Given the description of an element on the screen output the (x, y) to click on. 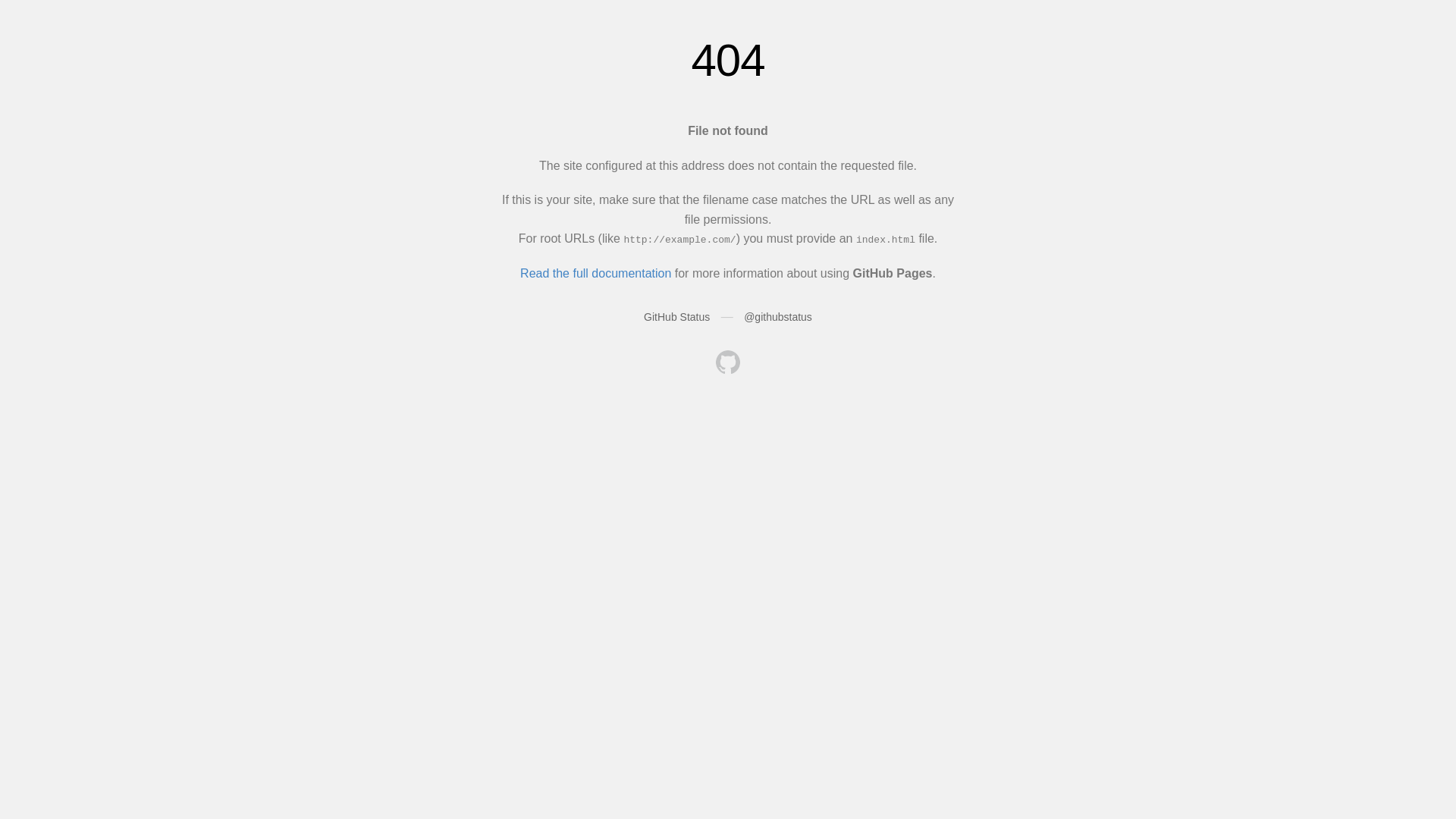
Read the full documentation Element type: text (595, 272)
@githubstatus Element type: text (777, 316)
GitHub Status Element type: text (676, 316)
